Given the description of an element on the screen output the (x, y) to click on. 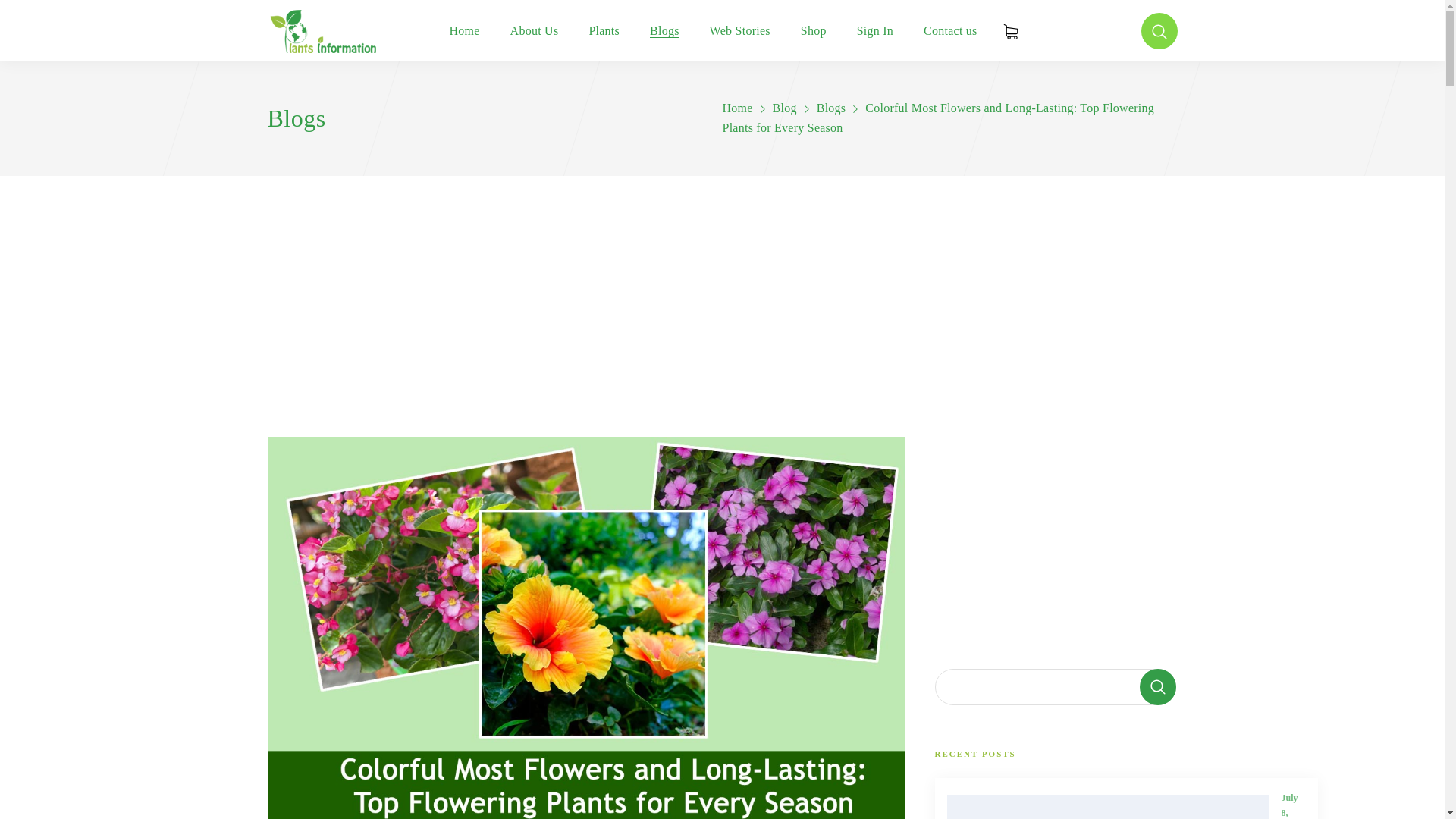
Blogs (830, 107)
Home (737, 107)
Blog (784, 107)
Web Stories (740, 30)
